Given the description of an element on the screen output the (x, y) to click on. 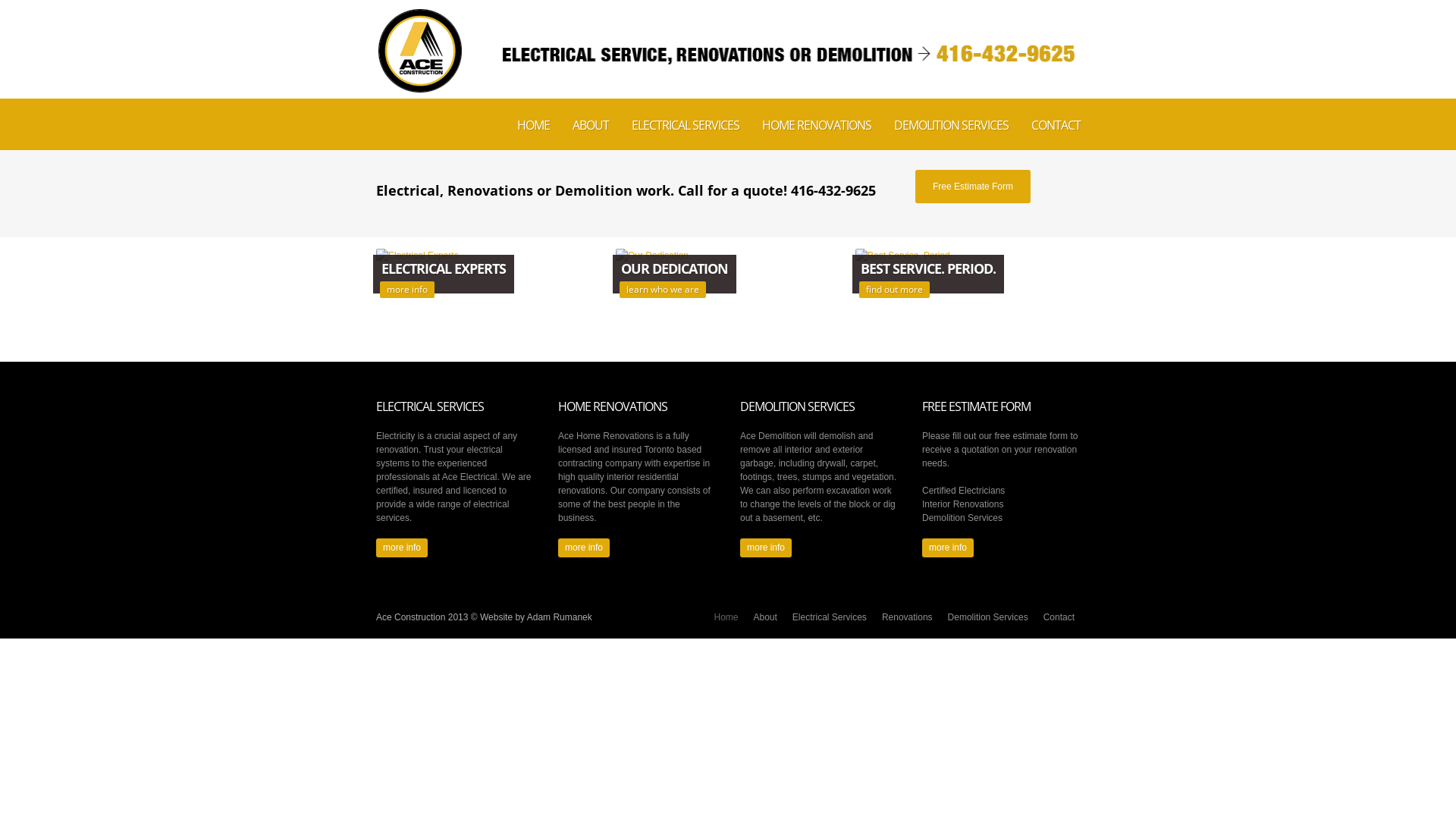
HOME Element type: text (533, 124)
more info Element type: text (765, 547)
Demolition Services Element type: text (987, 617)
About Element type: text (764, 617)
BEST SERVICE. PERIOD.
find out more Element type: text (967, 254)
more info Element type: text (947, 547)
Contact Element type: text (1058, 617)
Free Estimate Form Element type: text (972, 186)
Website by Adam Rumanek Element type: text (536, 616)
OUR DEDICATION
learn who we are Element type: text (727, 254)
ELECTRICAL EXPERTS
more info Element type: text (488, 254)
DEMOLITION SERVICES Element type: text (950, 124)
ELECTRICAL SERVICES Element type: text (685, 124)
CONTACT Element type: text (1055, 124)
more info Element type: text (583, 547)
Home Element type: text (725, 617)
HOME RENOVATIONS Element type: text (816, 124)
ABOUT Element type: text (590, 124)
Electrical Services Element type: text (829, 617)
more info Element type: text (401, 547)
Renovations Element type: text (907, 617)
